Given the description of an element on the screen output the (x, y) to click on. 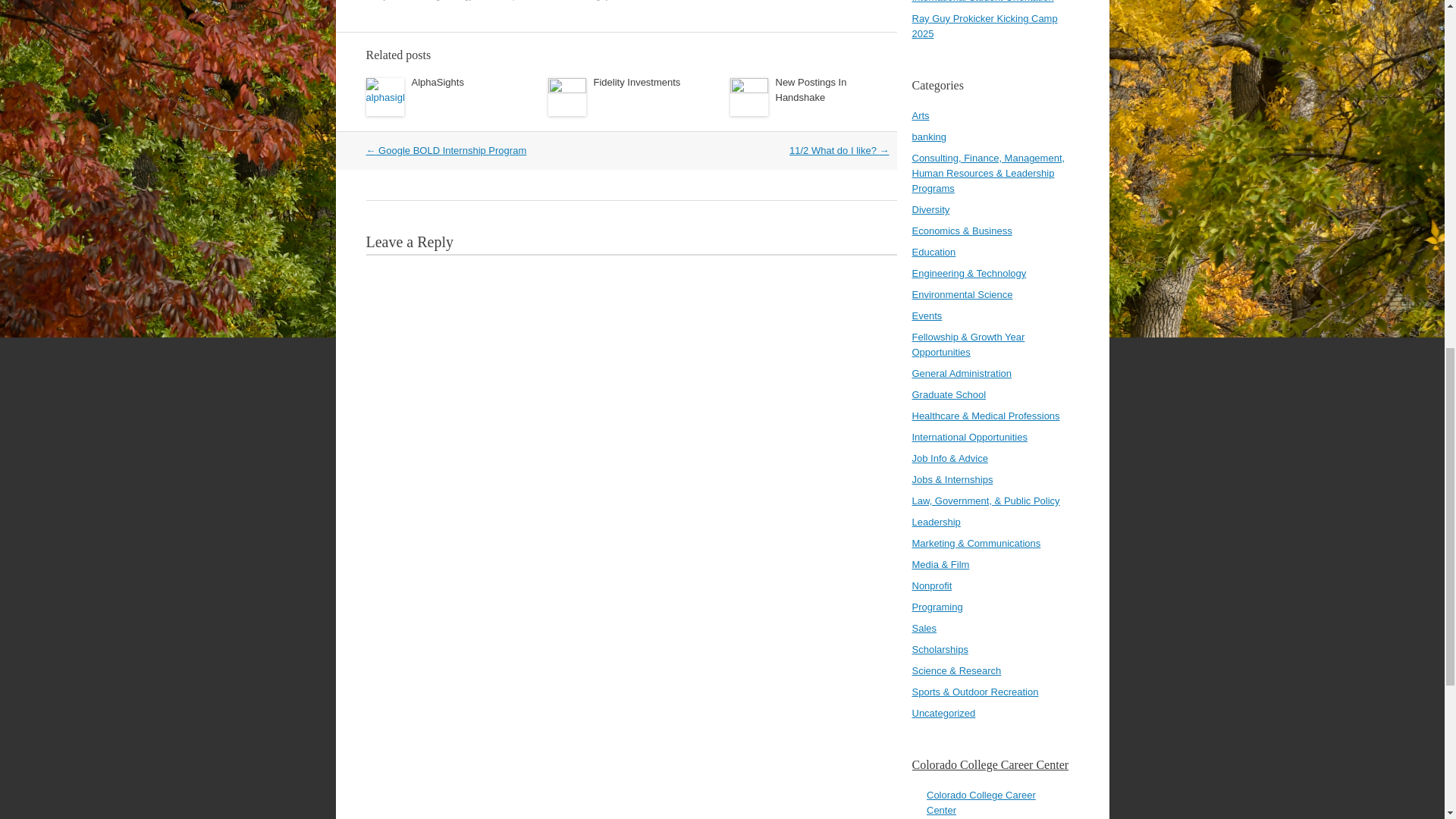
New Postings In Handshake (809, 89)
AlphaSights (436, 81)
Permalink to New Postings In Handshake (809, 89)
consulting (419, 0)
Permalink to AlphaSights (436, 81)
Fidelity Investments (635, 81)
Permalink to Fidelity Investments (635, 81)
